Given the description of an element on the screen output the (x, y) to click on. 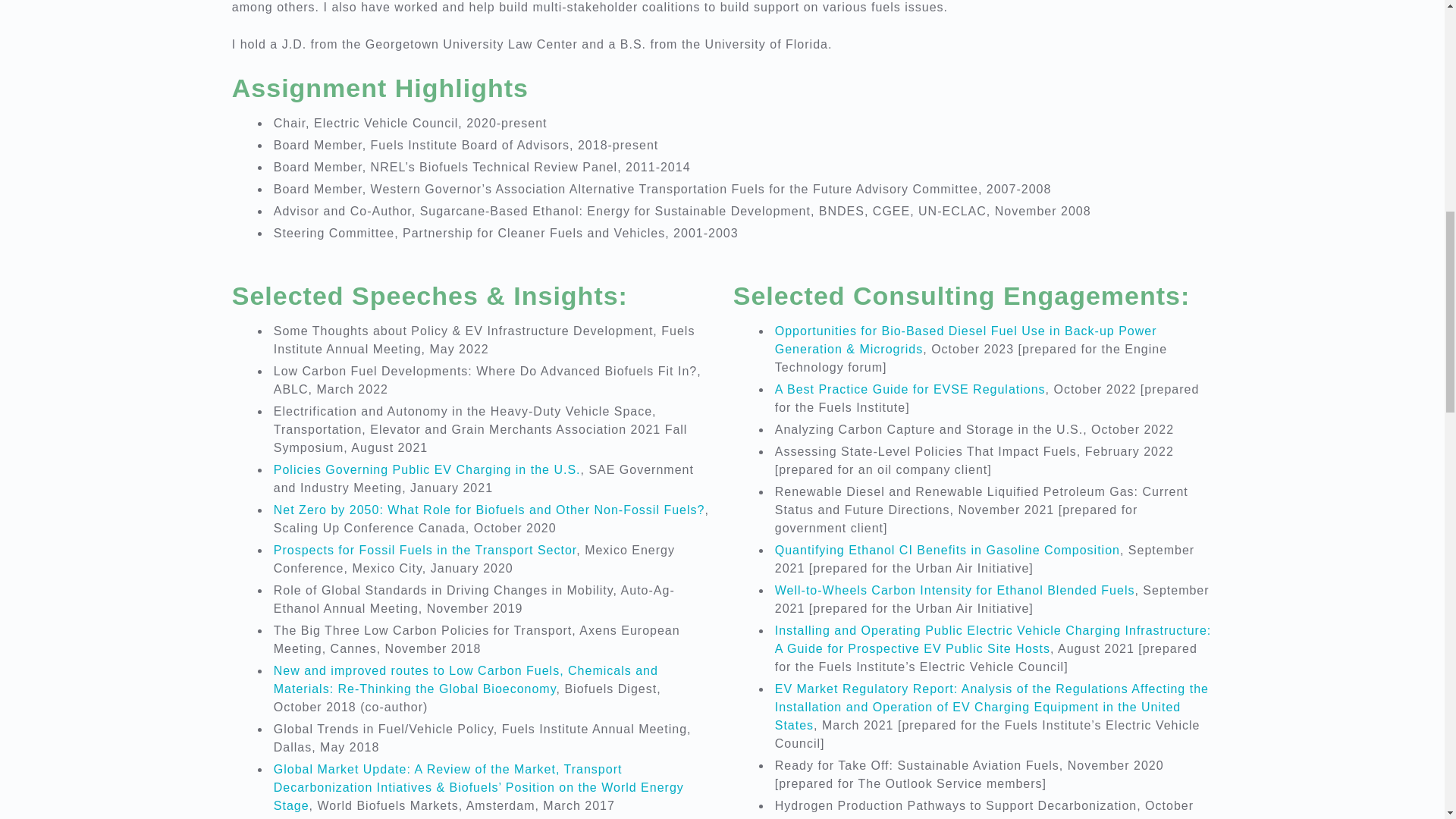
A Best Practice Guide for EVSE Regulations (909, 389)
Prospects for Fossil Fuels in the Transport Sector (424, 549)
Quantifying Ethanol CI Benefits in Gasoline Composition (946, 549)
Well-to-Wheels Carbon Intensity for Ethanol Blended Fuels (954, 590)
Policies Governing Public EV Charging in the U.S. (426, 469)
